Given the description of an element on the screen output the (x, y) to click on. 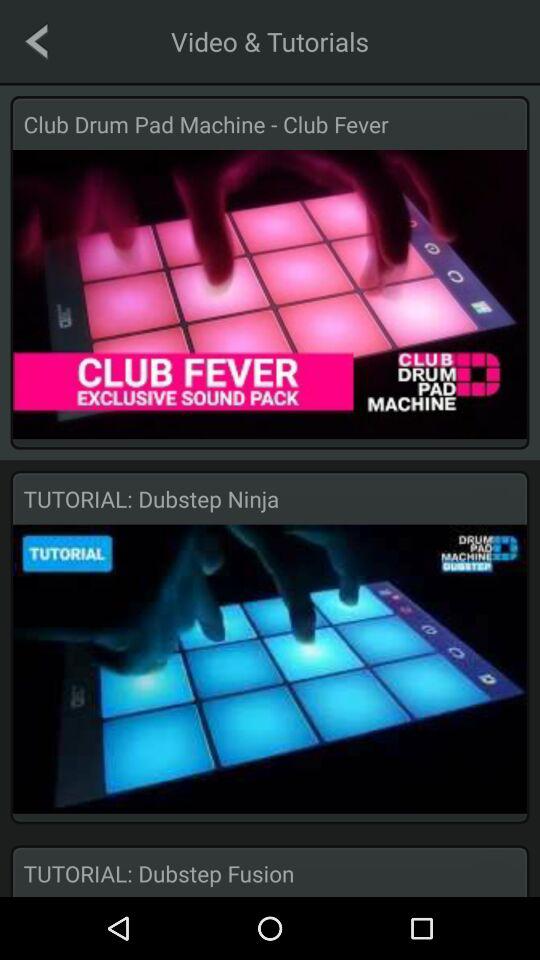
go to previous (36, 41)
